Given the description of an element on the screen output the (x, y) to click on. 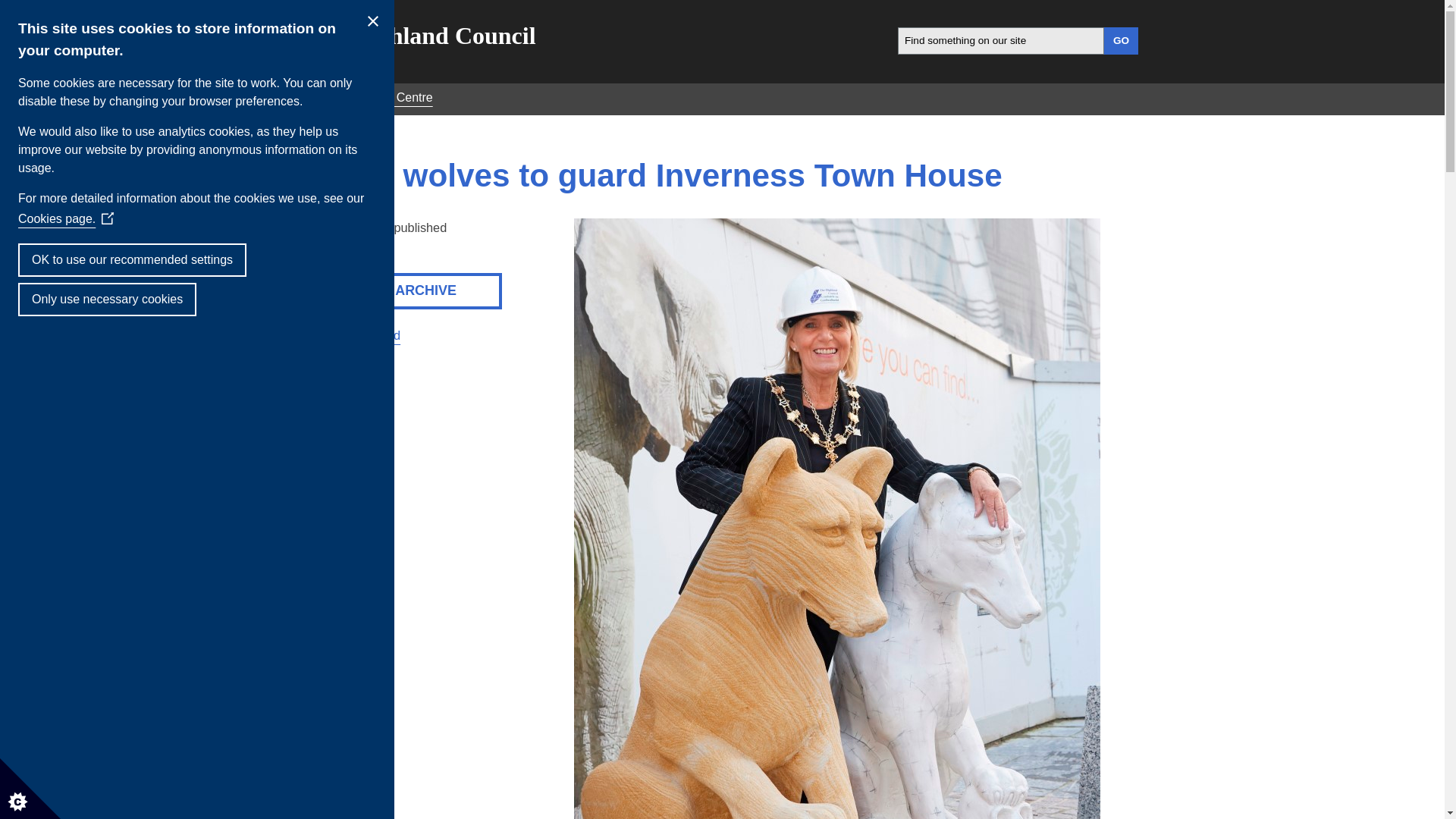
Cookie Control (30, 788)
OK to use our recommended settings (131, 259)
News Centre (397, 97)
NEWS ARCHIVE (403, 290)
News RSS feed (352, 335)
Only use necessary cookies (106, 299)
GO (1120, 41)
The Highland Council (419, 35)
GO (1120, 41)
Home (320, 97)
Cookie Control (30, 788)
